Given the description of an element on the screen output the (x, y) to click on. 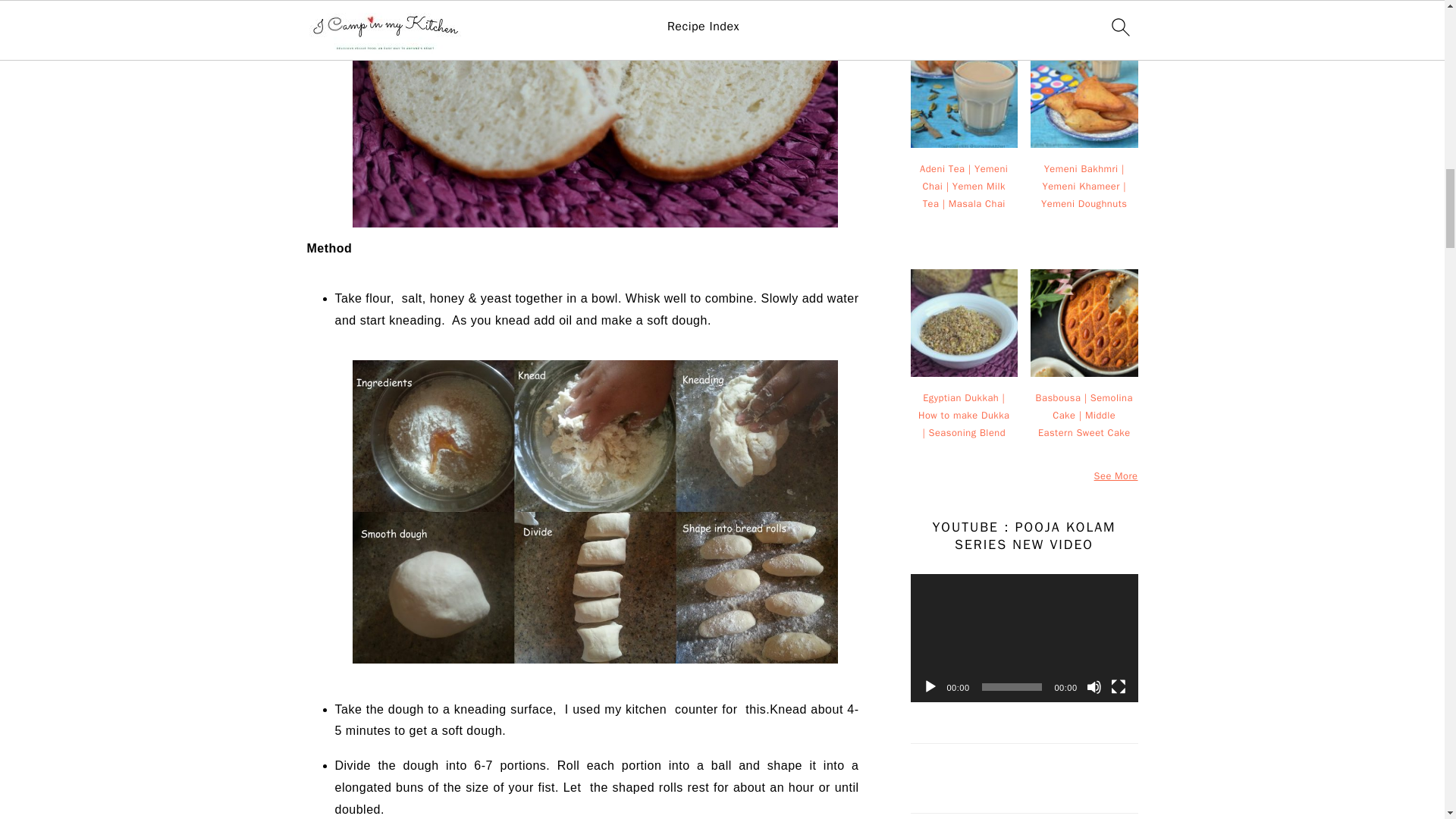
Play (929, 686)
Fullscreen (1117, 686)
Mute (1093, 686)
